Given the description of an element on the screen output the (x, y) to click on. 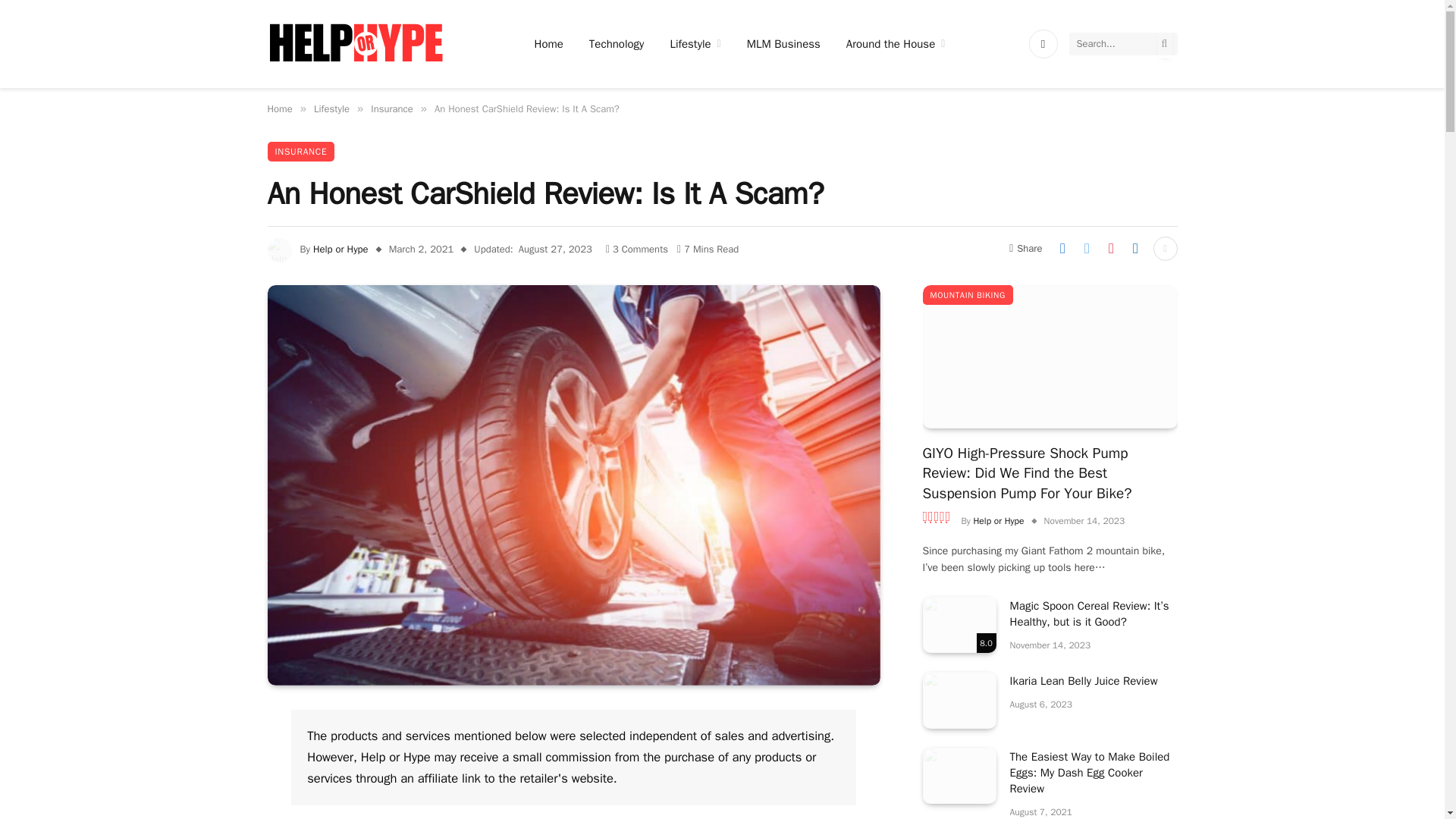
INSURANCE (300, 151)
Share on Pinterest (1110, 248)
Insurance (392, 108)
Home (279, 108)
Show More Social Sharing (1164, 248)
Posts by Help or Hype (340, 248)
Help or Hype (340, 248)
Share on Facebook (1062, 248)
MLM Business (782, 43)
3 Comments (636, 248)
Technology (617, 43)
Around the House (895, 43)
Share on LinkedIn (1135, 248)
Lifestyle (331, 108)
